Given the description of an element on the screen output the (x, y) to click on. 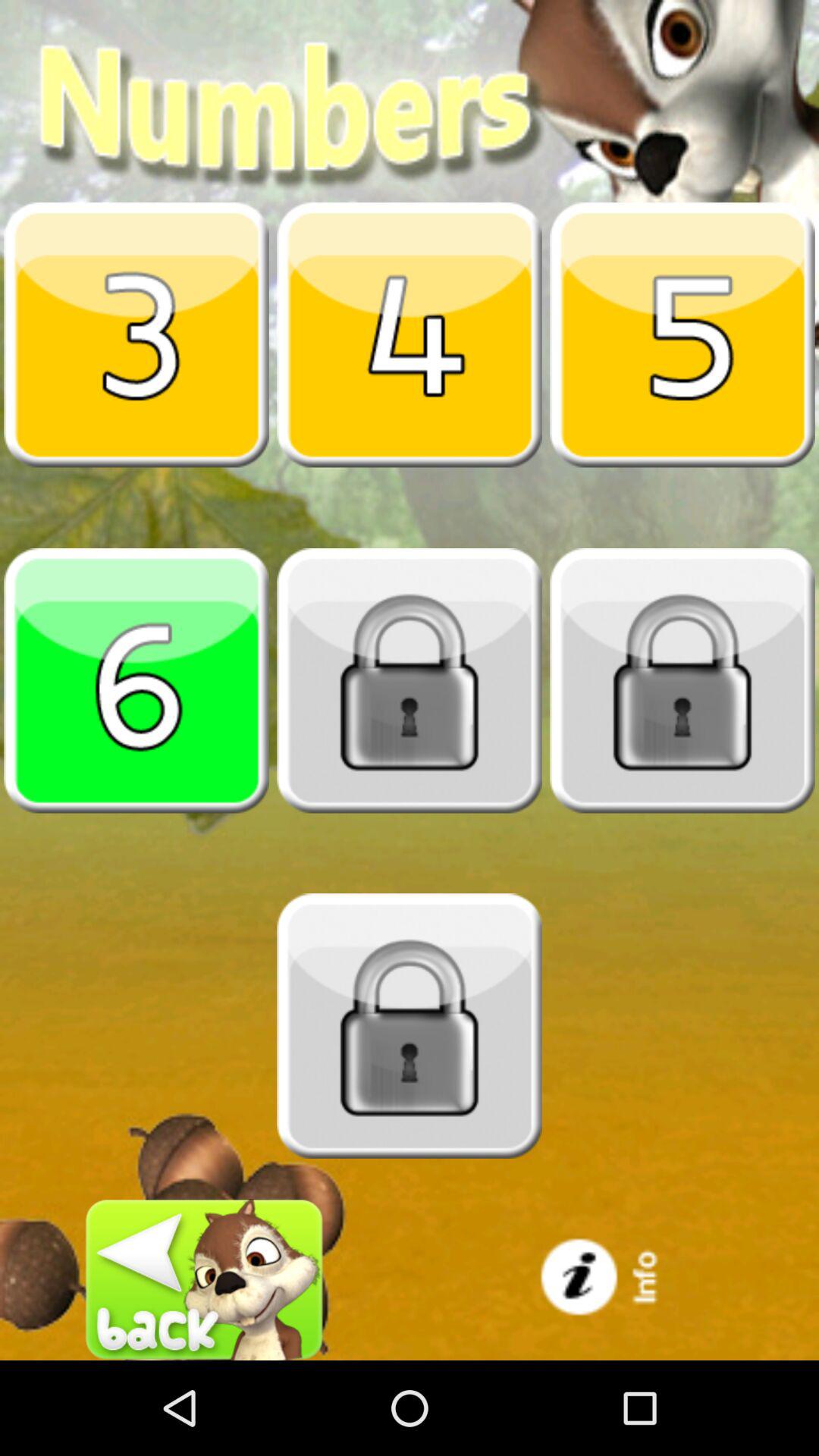
switch autoplay option (136, 334)
